Given the description of an element on the screen output the (x, y) to click on. 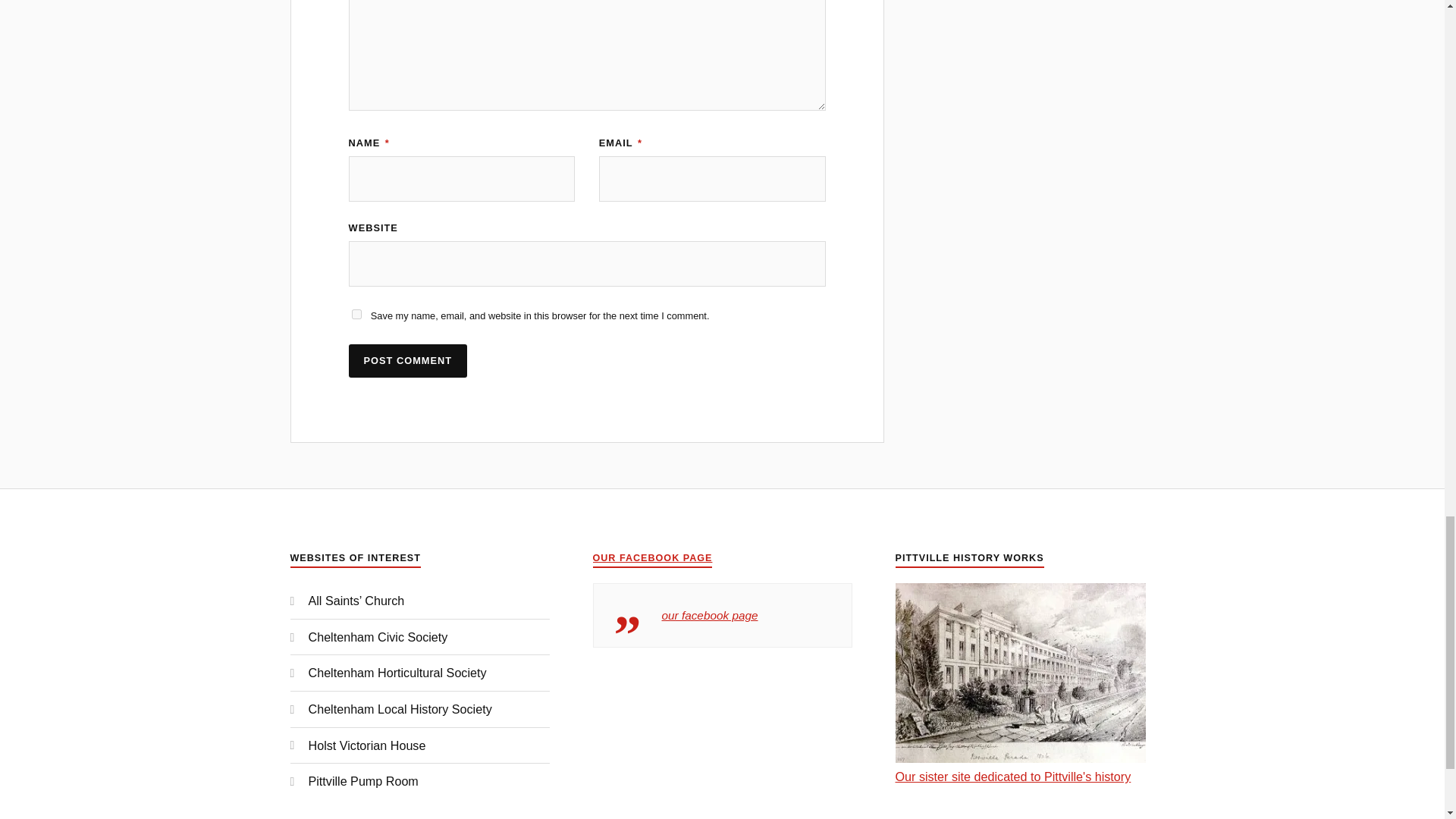
Post Comment (408, 360)
yes (356, 314)
